Given the description of an element on the screen output the (x, y) to click on. 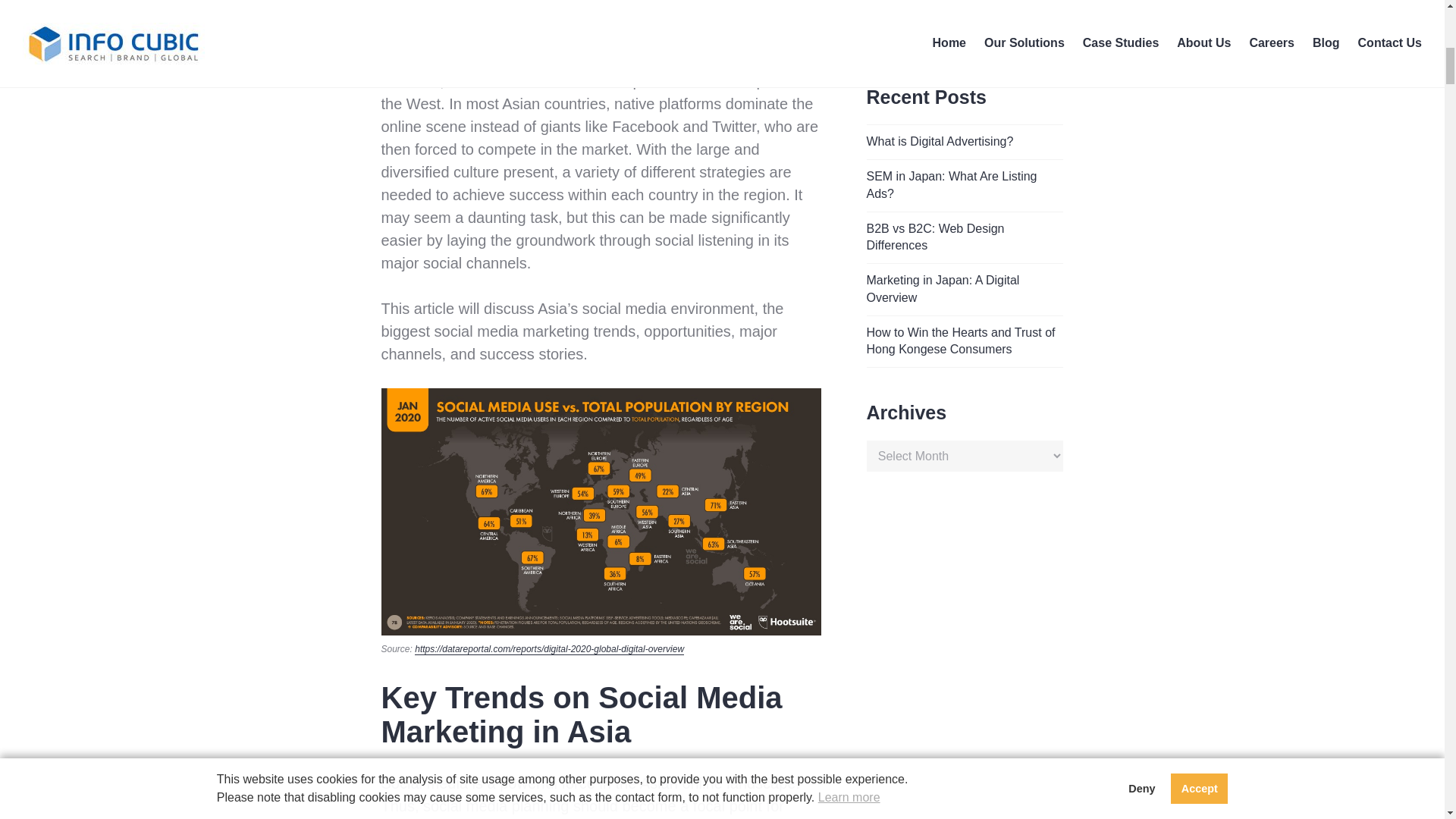
the highest social media penetration rate (599, 10)
